Given the description of an element on the screen output the (x, y) to click on. 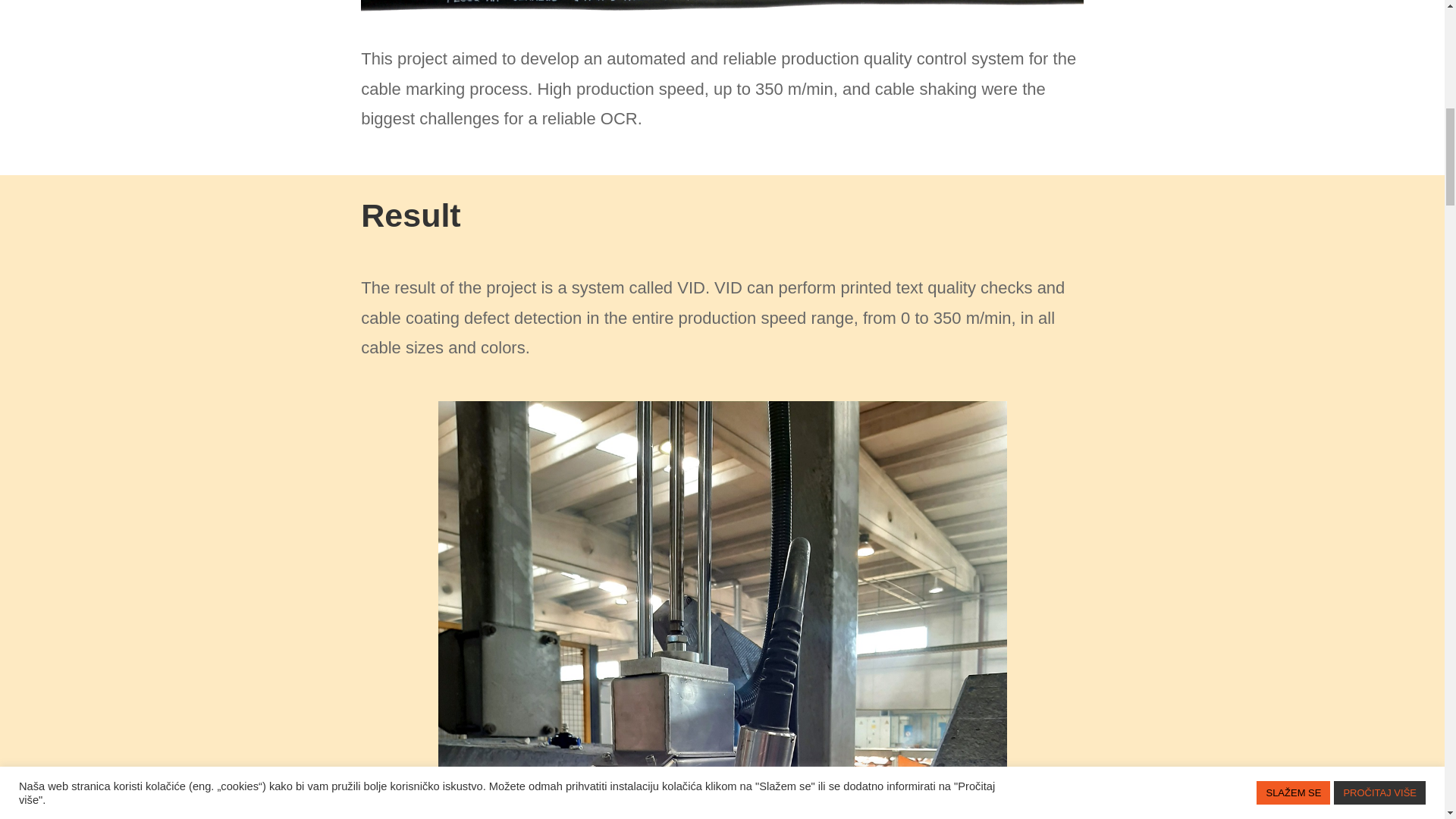
printer prska tockice zoom transparent (722, 11)
